Given the description of an element on the screen output the (x, y) to click on. 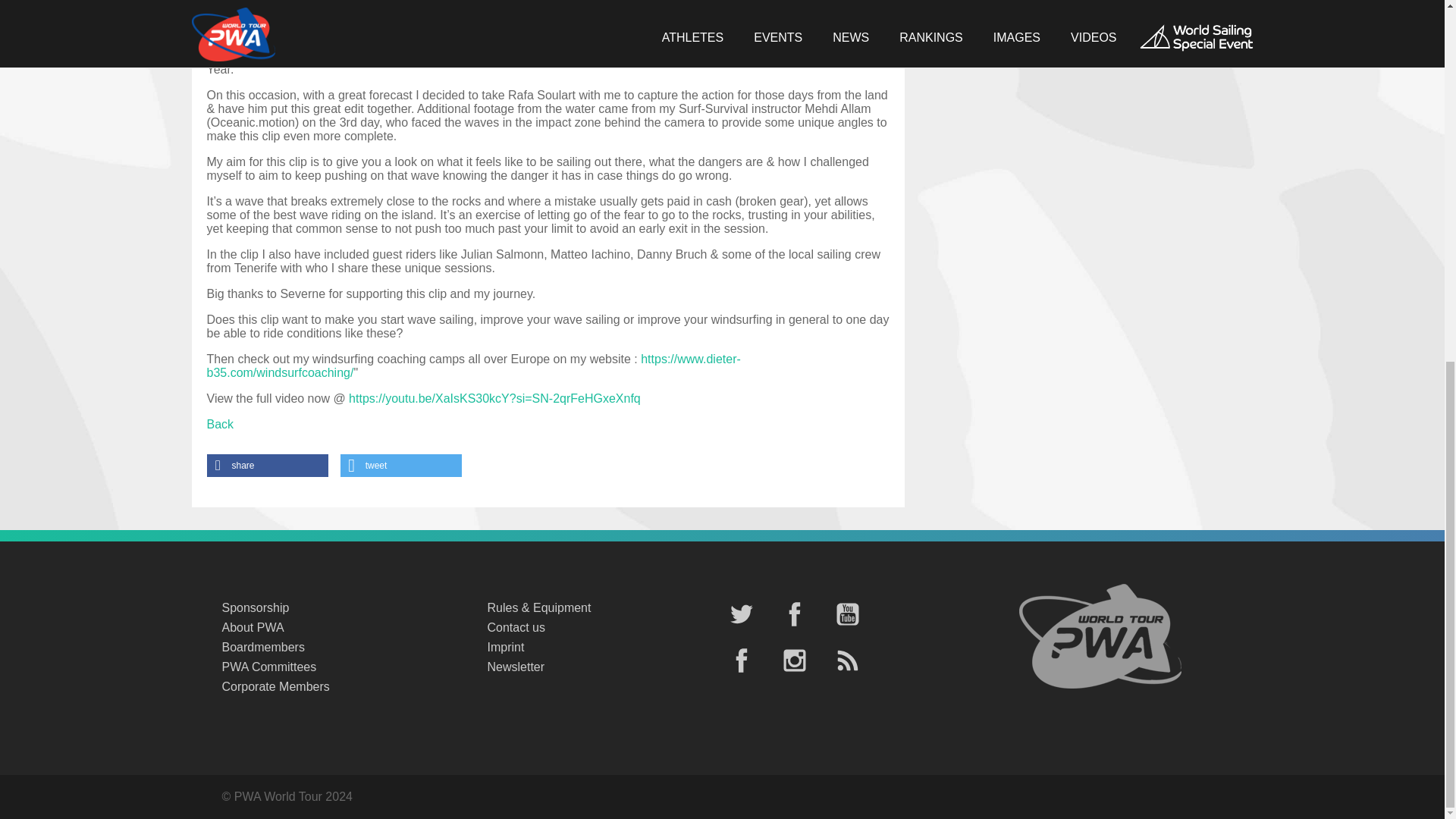
PWA YouTube Channel (847, 615)
Newsletter (604, 667)
Share on Facebook (266, 465)
PWA Women Facebook Page (741, 661)
Share on Twitter (400, 465)
Follow PWA on Twitter (741, 615)
PWA Committees (339, 667)
Corporate Members (339, 686)
PWA RSS News Feed (847, 661)
About PWA (339, 628)
Back (219, 423)
Follow PWA on Facebook (793, 615)
tweet (400, 465)
share (266, 465)
PWA on Instagram (793, 661)
